Given the description of an element on the screen output the (x, y) to click on. 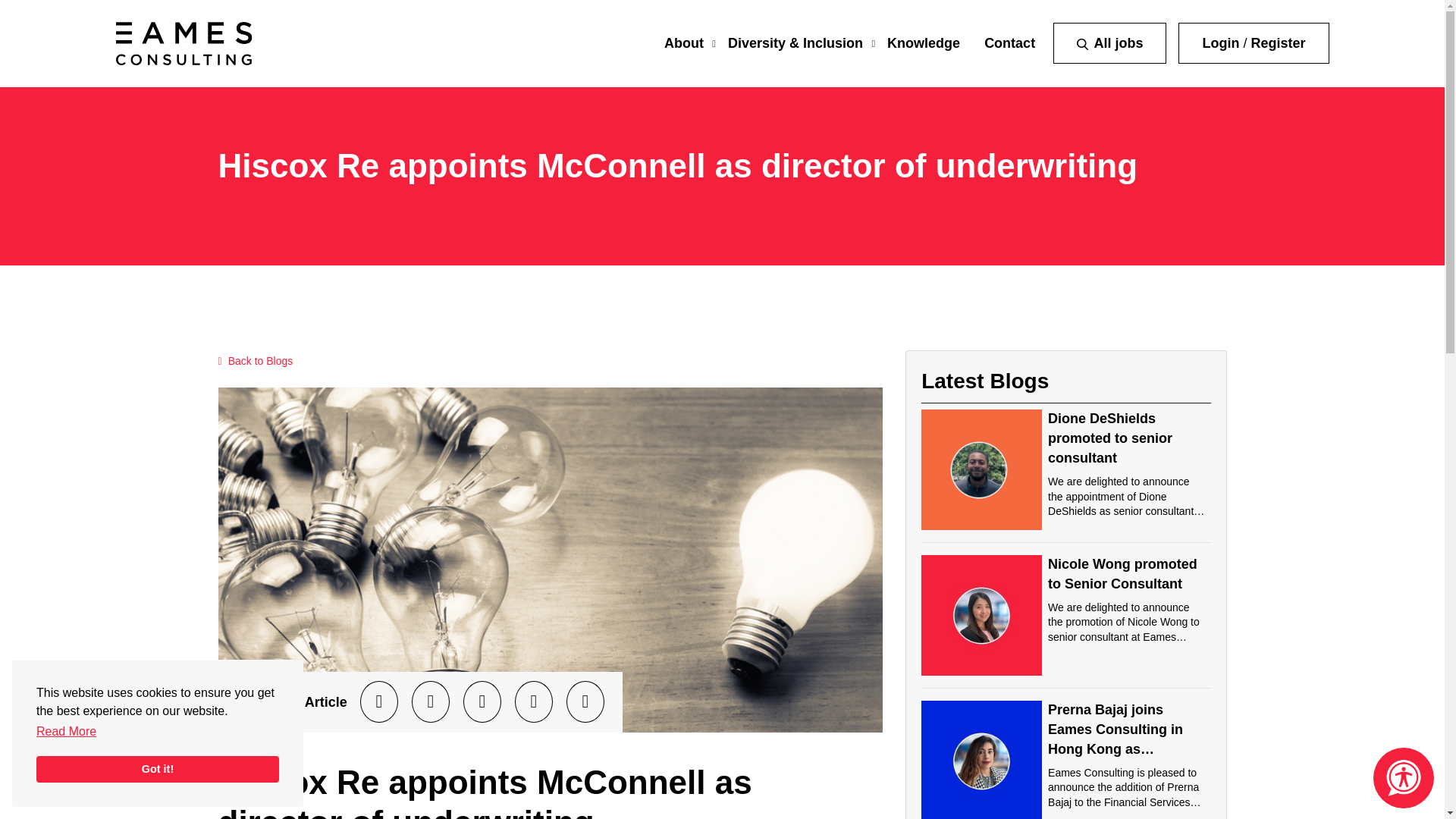
Back to Blogs (256, 361)
Register (1277, 43)
Nicole Wong promoted to Senior Consultant (1122, 573)
Launch Recite Me (1403, 777)
Dione DeShields promoted to senior consultant (1110, 438)
Knowledge (922, 43)
search (1082, 43)
search All jobs (1109, 42)
Got it! (157, 768)
Read More (66, 731)
Login (1220, 43)
Launch Recite Me (1403, 777)
About (683, 43)
Contact (1009, 43)
